Given the description of an element on the screen output the (x, y) to click on. 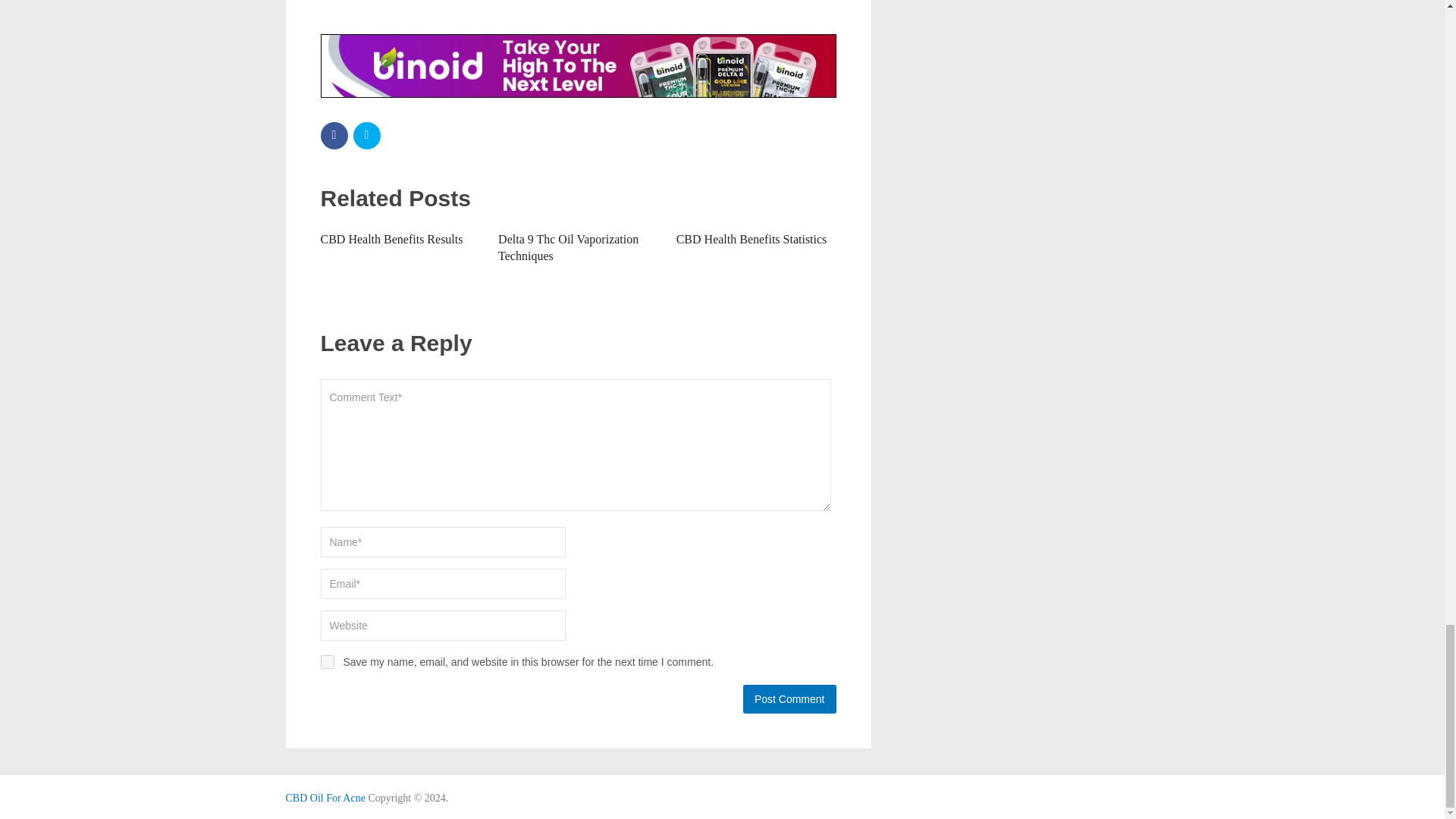
Post Comment (788, 698)
Delta 9 Thc Oil Vaporization Techniques (568, 247)
yes (326, 662)
CBD Health Benefits Results (391, 238)
Delta 9 Thc Oil Vaporization Techniques (568, 247)
CBD Health Benefits Statistics (752, 238)
CBD Health Benefits Results (391, 238)
Post Comment (788, 698)
CBD Health Benefits Statistics (752, 238)
